Given the description of an element on the screen output the (x, y) to click on. 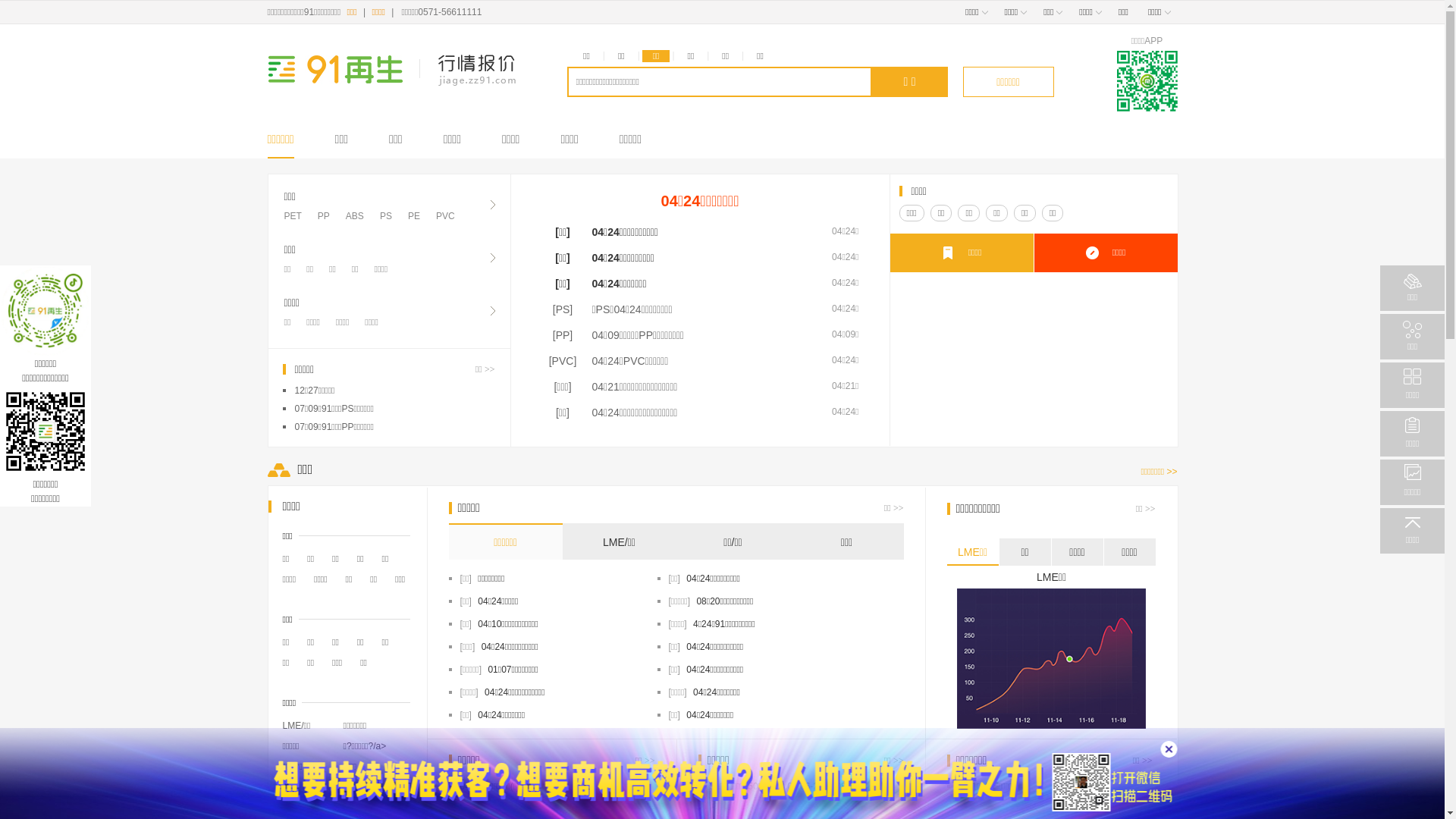
PP Element type: text (323, 215)
PET Element type: text (292, 215)
PVC Element type: text (445, 215)
[PVC] Element type: text (562, 361)
[PS] Element type: text (562, 309)
ABS Element type: text (354, 215)
PS Element type: text (385, 215)
PE Element type: text (413, 215)
[PP] Element type: text (562, 335)
